Given the description of an element on the screen output the (x, y) to click on. 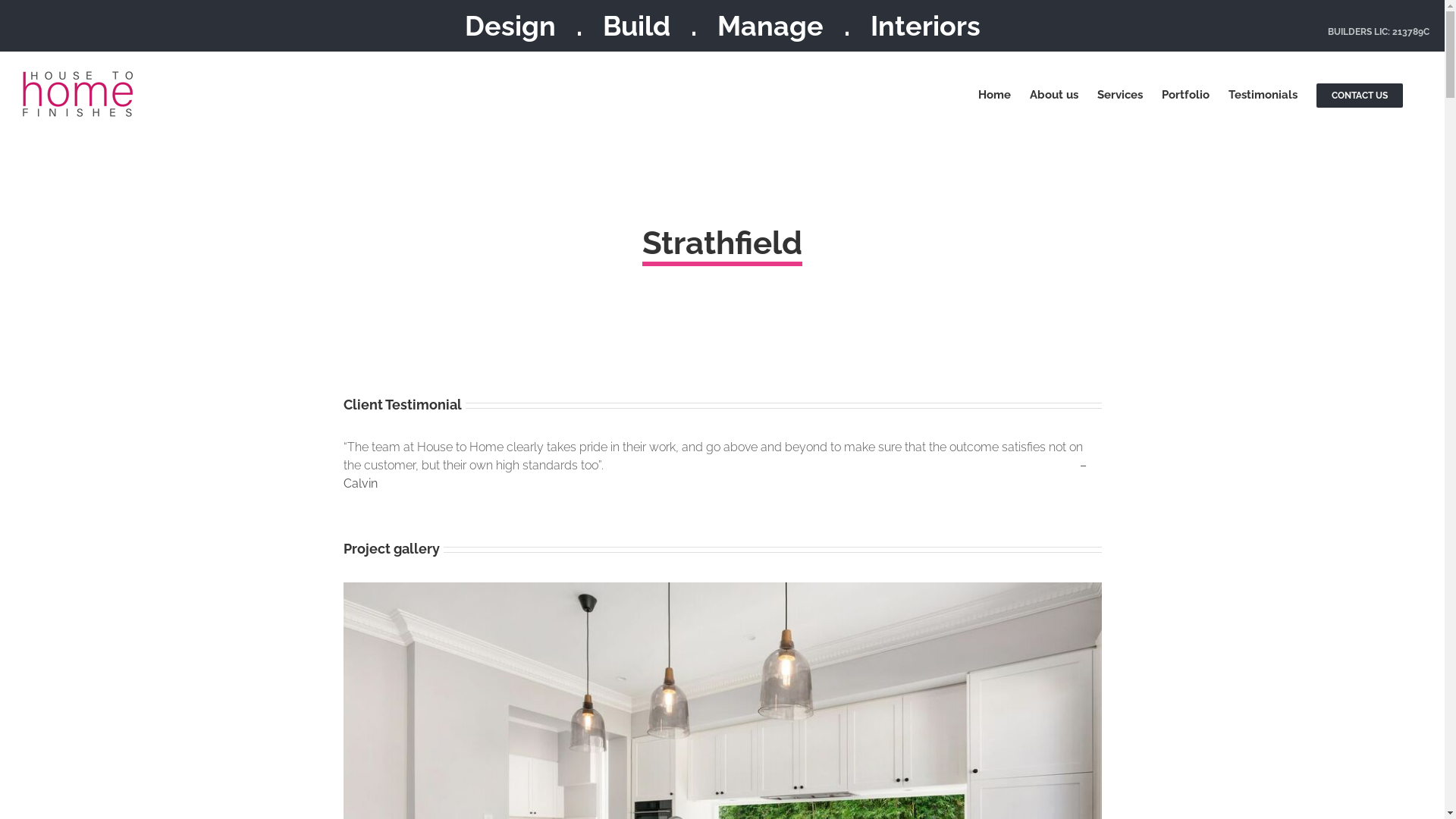
Portfolio Element type: text (1185, 93)
About us Element type: text (1053, 93)
Home Element type: text (994, 93)
CONTACT US Element type: text (1359, 93)
Services Element type: text (1119, 93)
Testimonials Element type: text (1262, 93)
